Given the description of an element on the screen output the (x, y) to click on. 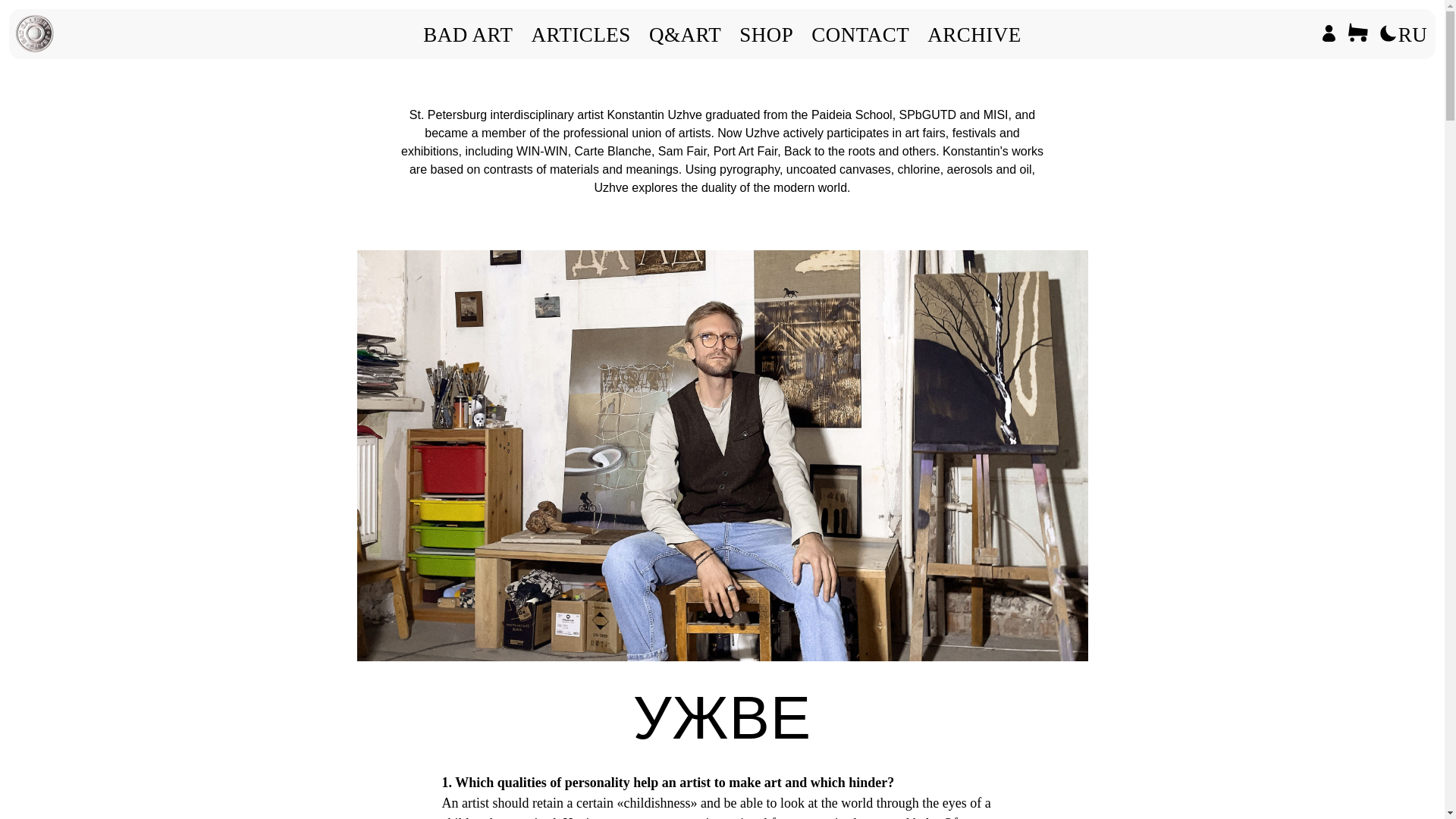
CONTACT (860, 34)
ARTICLES (580, 34)
ARCHIVE (974, 34)
SHOP (766, 34)
BAD ART (467, 34)
